Given the description of an element on the screen output the (x, y) to click on. 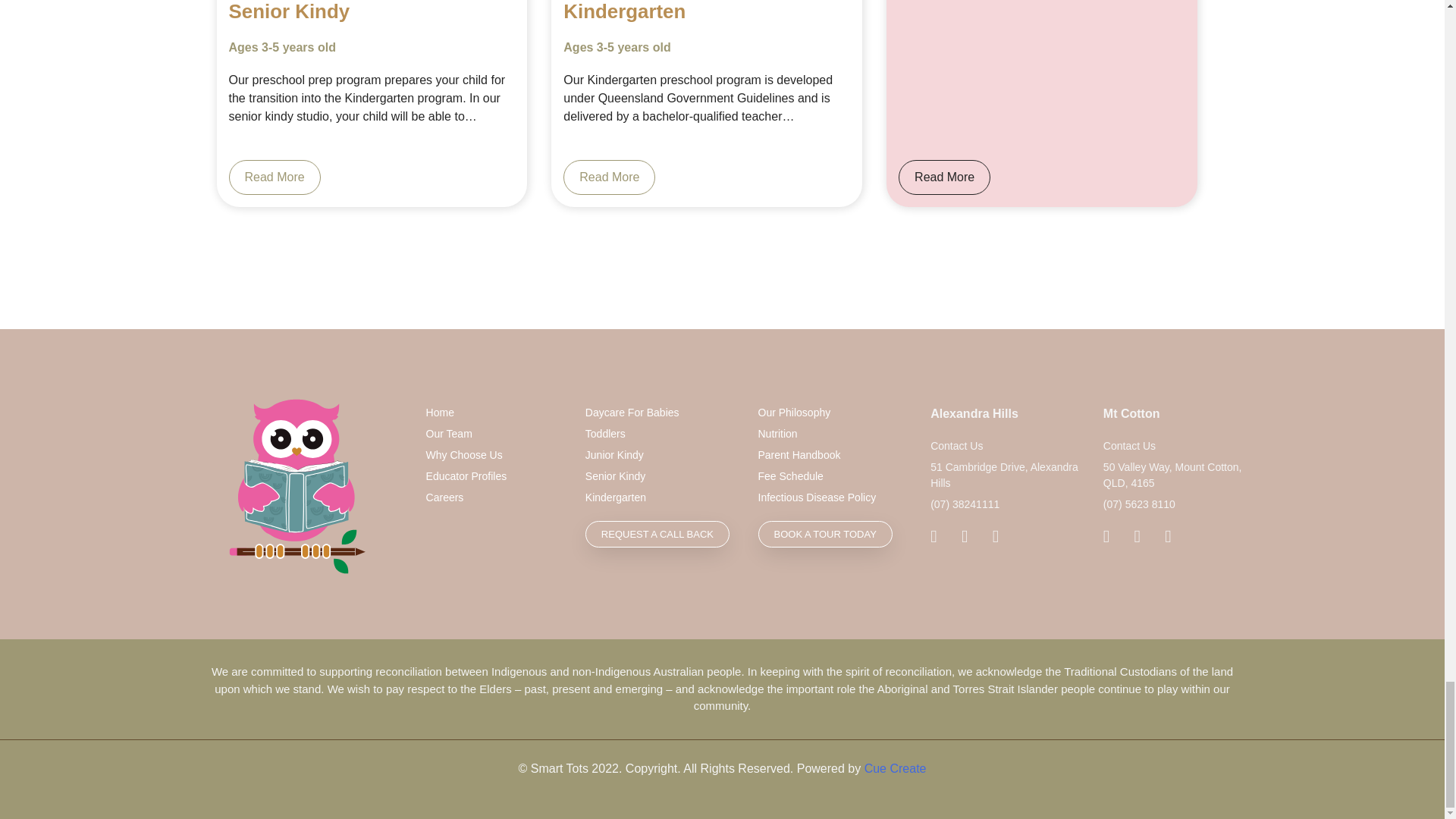
Read More (944, 176)
Educator Profiles (494, 476)
Read More (274, 176)
Home (494, 412)
Kindergarten (660, 497)
Nutrition (833, 433)
Junior Kindy (660, 455)
Senior Kindy (660, 476)
Careers (494, 497)
REQUEST A CALL BACK (657, 533)
